Given the description of an element on the screen output the (x, y) to click on. 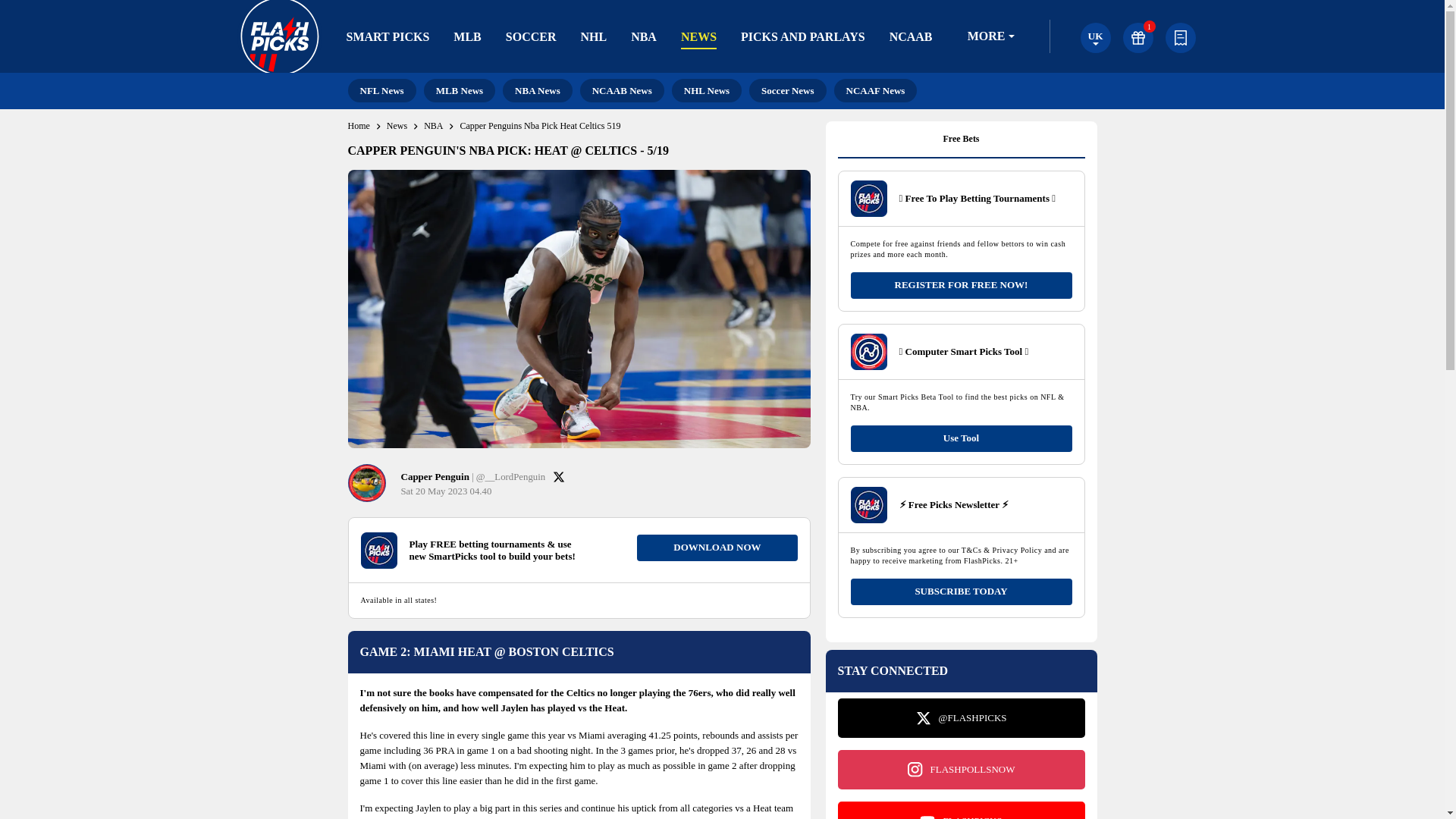
NCAAB News (621, 90)
NBA (643, 36)
News (397, 126)
NHL News (706, 90)
Home (358, 126)
Capper Penguins Nba Pick Heat Celtics 519 (540, 126)
NEWS (698, 36)
SOCCER (530, 36)
UK (1094, 37)
MLB News (459, 90)
